Given the description of an element on the screen output the (x, y) to click on. 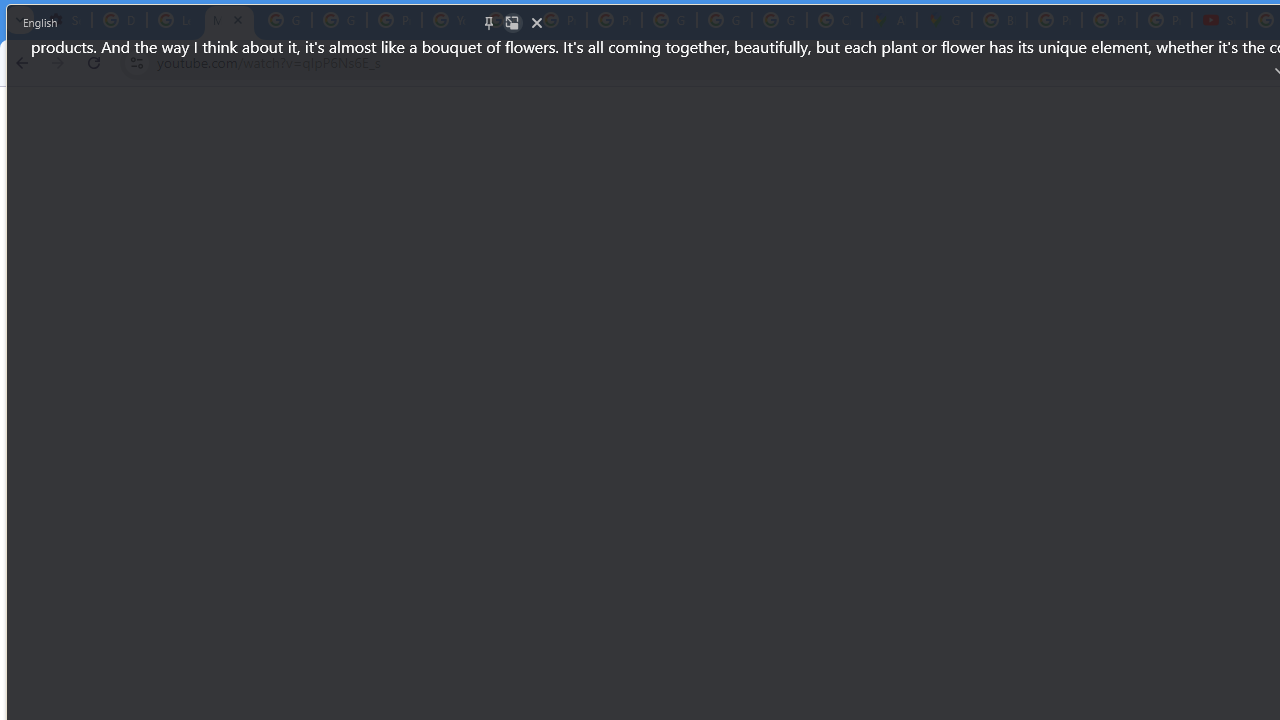
Settings - Customize profile (64, 20)
Blogger Policies and Guidelines - Transparency Center (998, 20)
Google Maps (943, 20)
Delete photos & videos - Computer - Google Photos Help (119, 20)
Privacy Help Center - Policies Help (394, 20)
Google Account Help (284, 20)
